Given the description of an element on the screen output the (x, y) to click on. 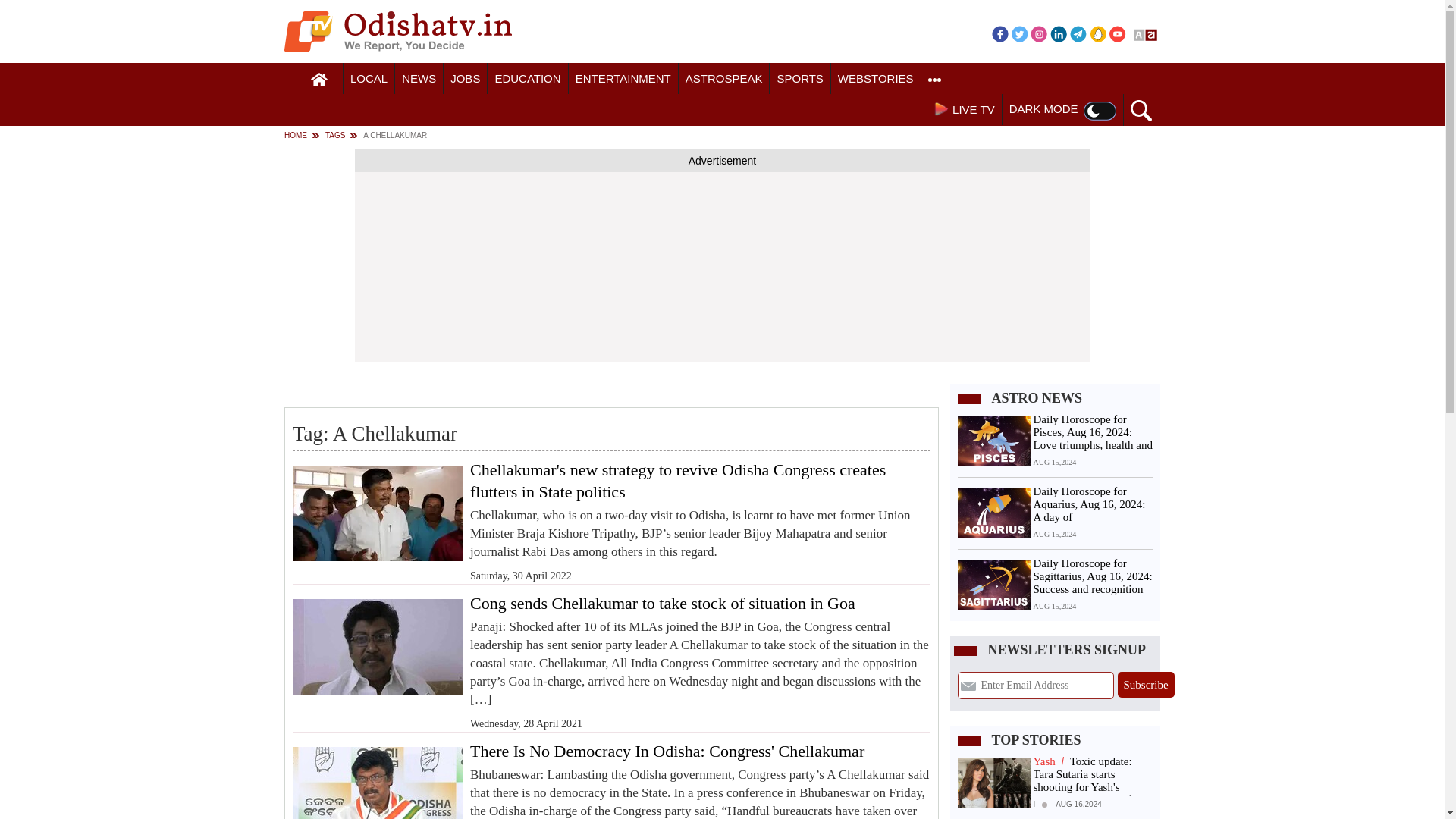
Facebook (1000, 33)
Instagram (1038, 33)
EDUCATION (527, 78)
LinkedIn (1058, 33)
Youtube (1117, 33)
NEWS (418, 78)
Koo (1097, 33)
ENTERTAINMENT (623, 78)
Home Icon (319, 79)
OdishaTV (397, 31)
